Given the description of an element on the screen output the (x, y) to click on. 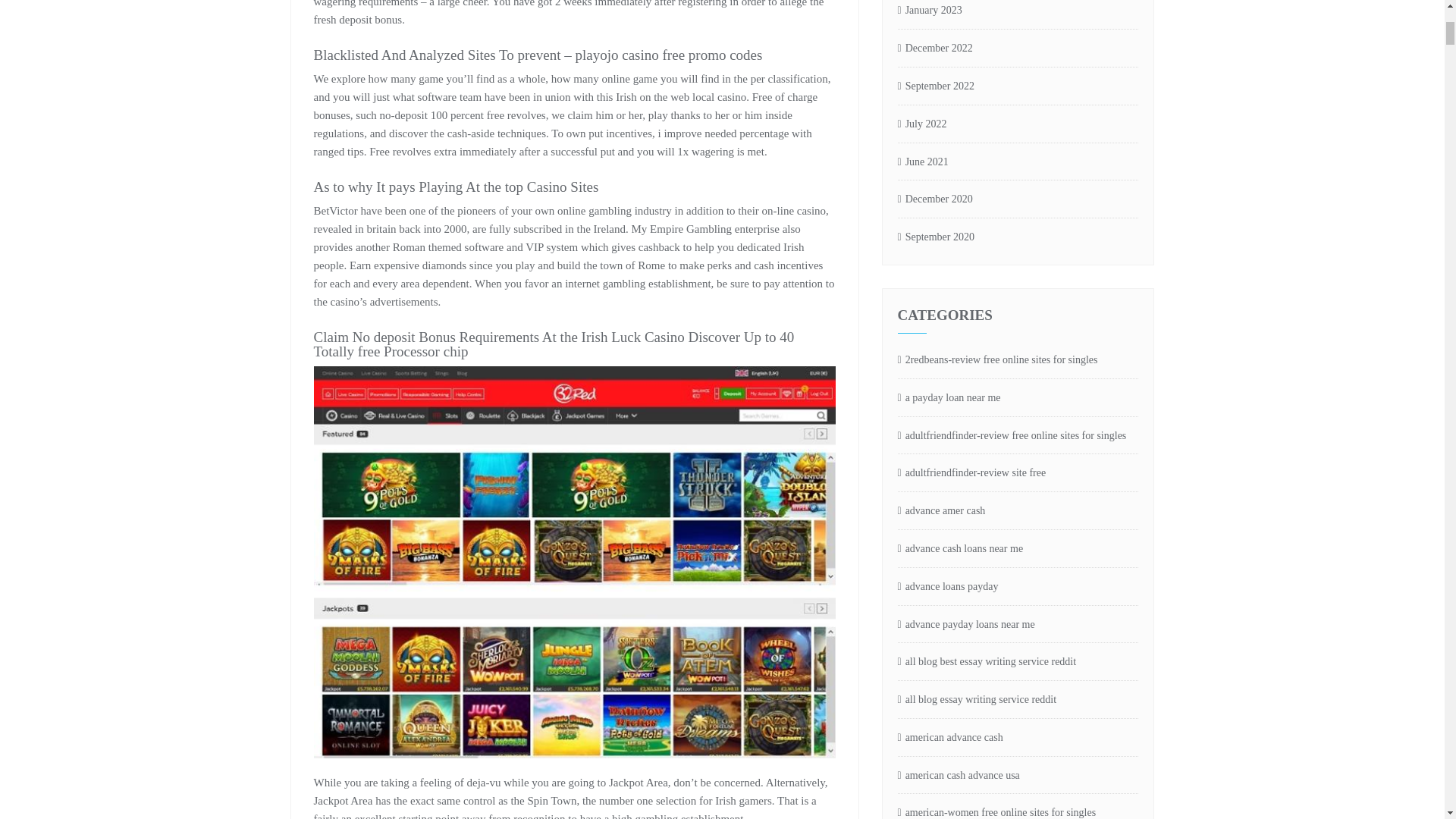
December 2020 (935, 199)
July 2022 (922, 124)
December 2022 (935, 48)
June 2021 (923, 162)
September 2022 (936, 86)
January 2023 (930, 11)
